Given the description of an element on the screen output the (x, y) to click on. 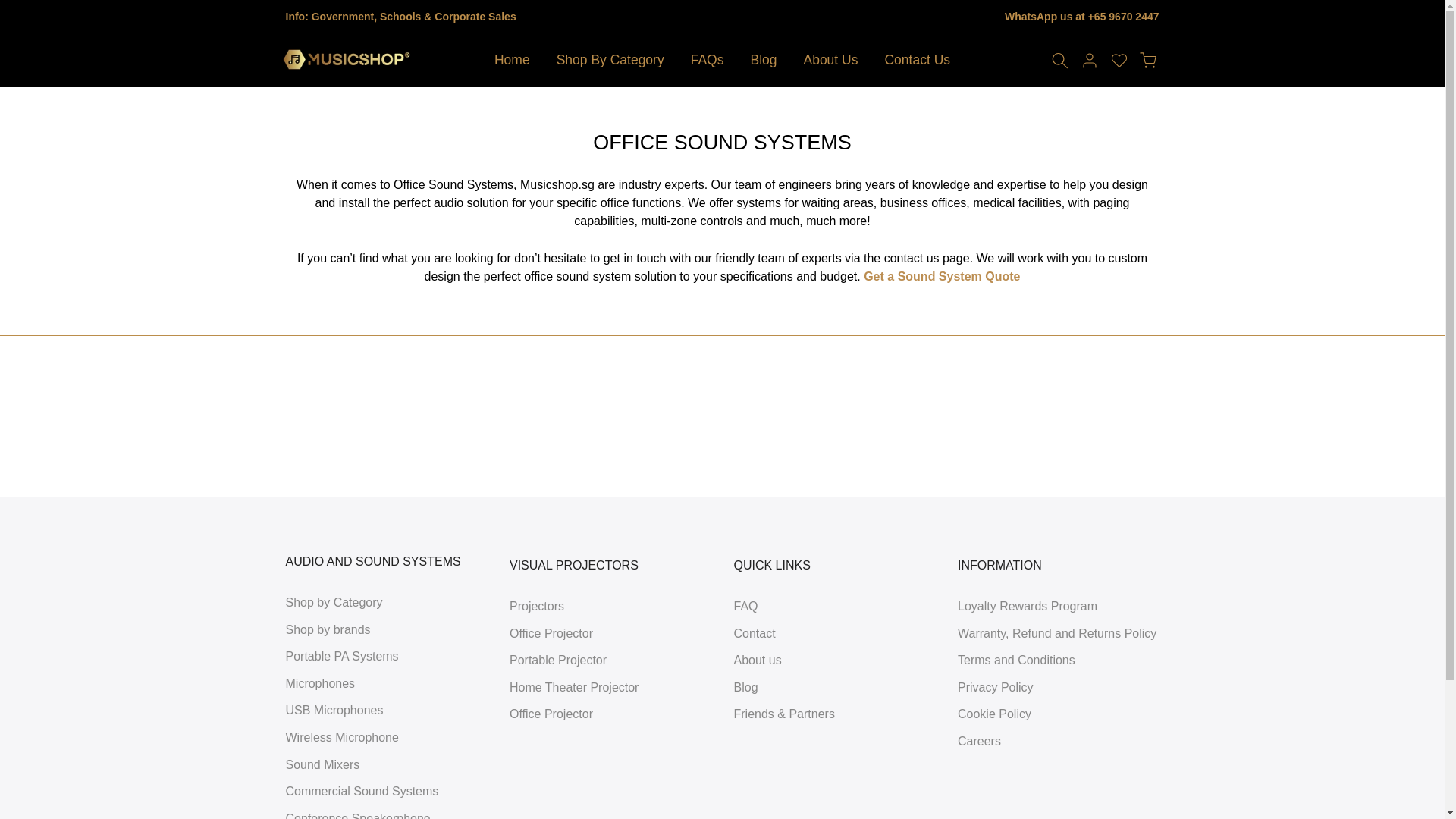
Home Theater Projector (574, 686)
Shop by Category (333, 602)
USB Microphones (333, 709)
Microphones (320, 683)
FAQs (706, 60)
Office Projector (550, 713)
Conference Speakerphone (357, 815)
Get a Sound System Quote (941, 277)
Get a Sound System Quote (941, 277)
Home (511, 60)
